Given the description of an element on the screen output the (x, y) to click on. 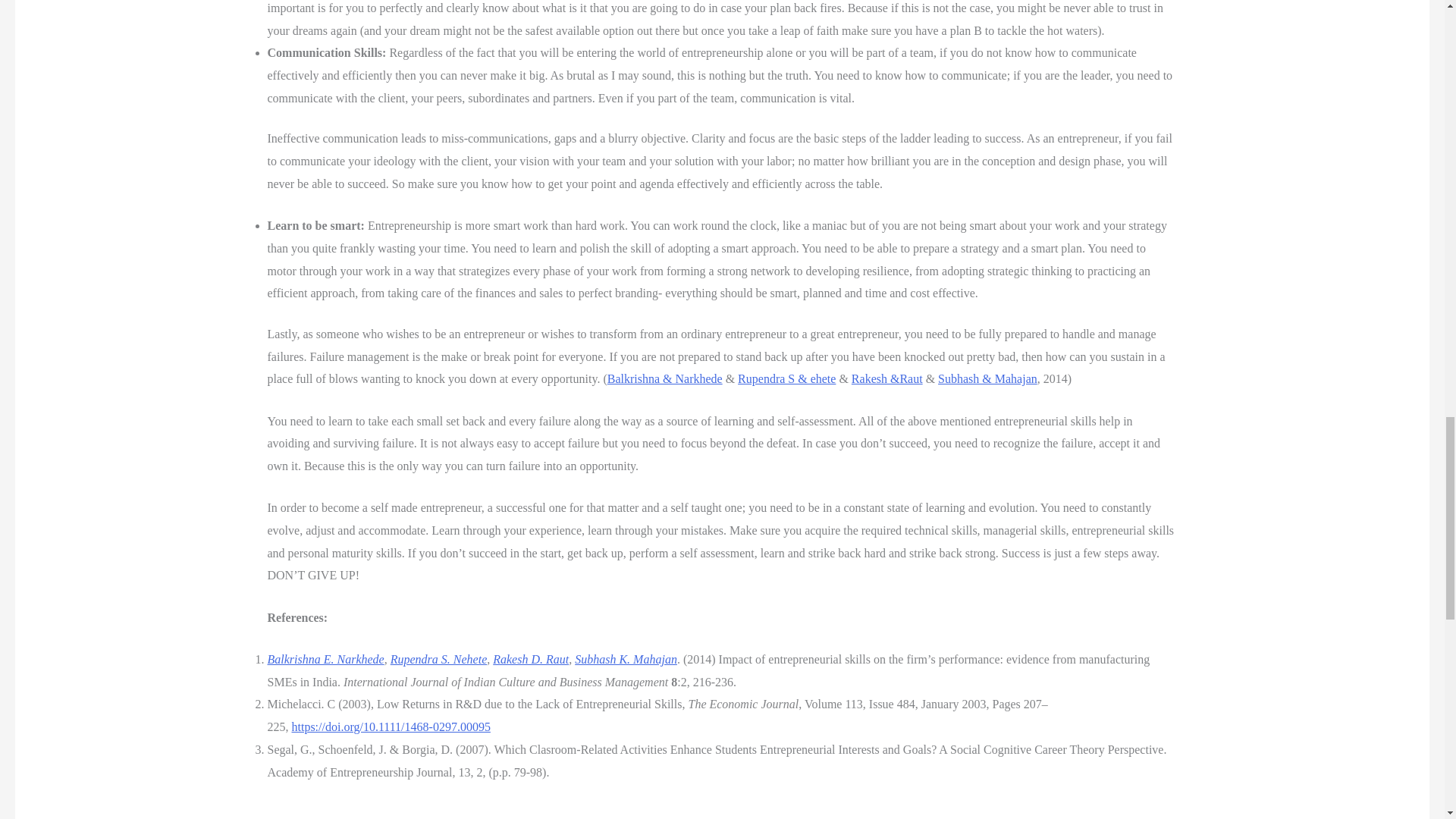
Rakesh D. Raut (531, 658)
Subhash K. Mahajan (626, 658)
Rupendra S. Nehete (438, 658)
Balkrishna E. Narkhede (325, 658)
